Given the description of an element on the screen output the (x, y) to click on. 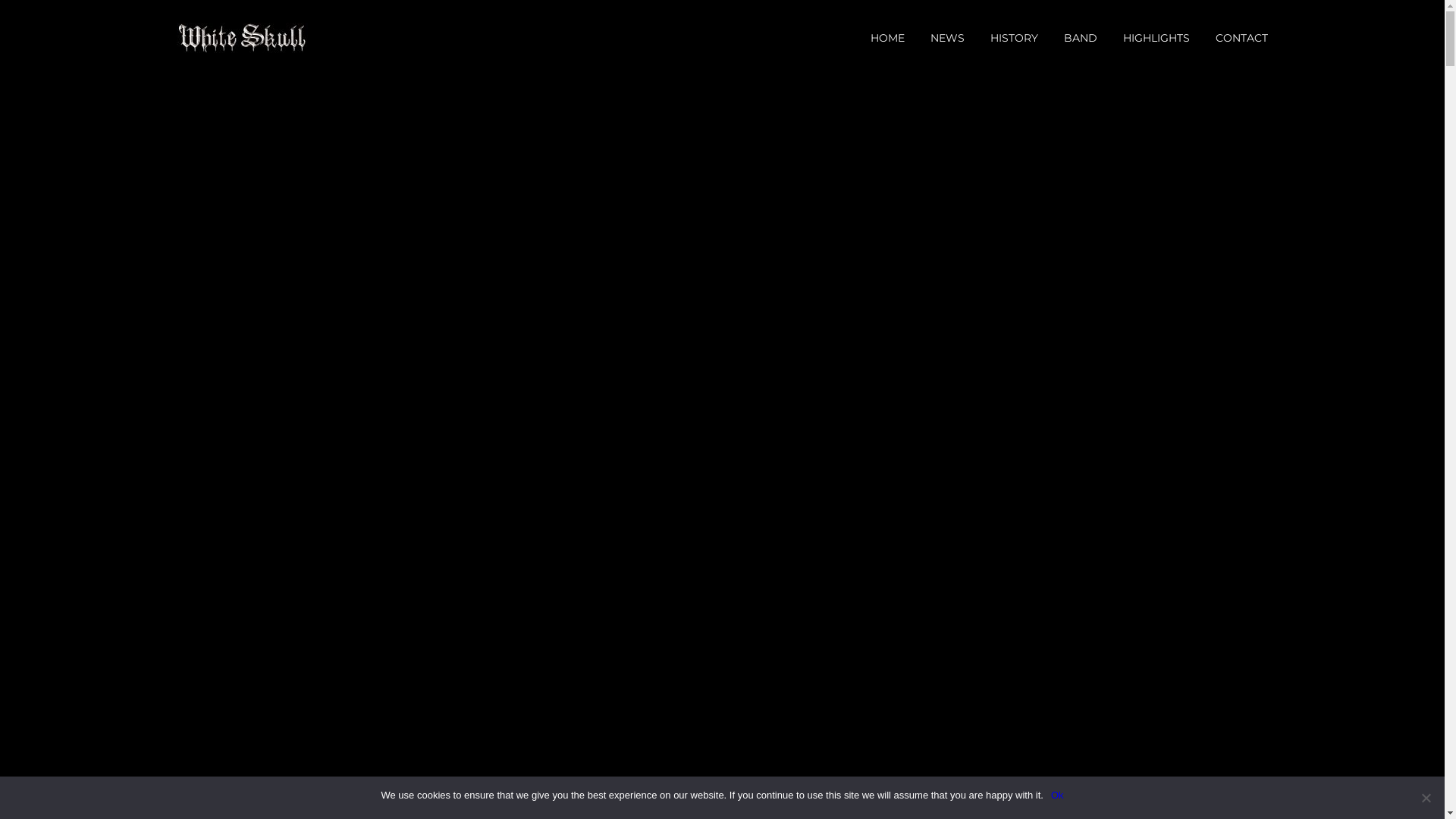
BAND Element type: text (1080, 37)
Ok Element type: text (1057, 795)
No Element type: hover (1425, 797)
HISTORY Element type: text (1014, 37)
HIGHLIGHTS Element type: text (1156, 37)
NEWS Element type: text (947, 37)
CONTACT Element type: text (1241, 37)
HOME Element type: text (887, 37)
